Given the description of an element on the screen output the (x, y) to click on. 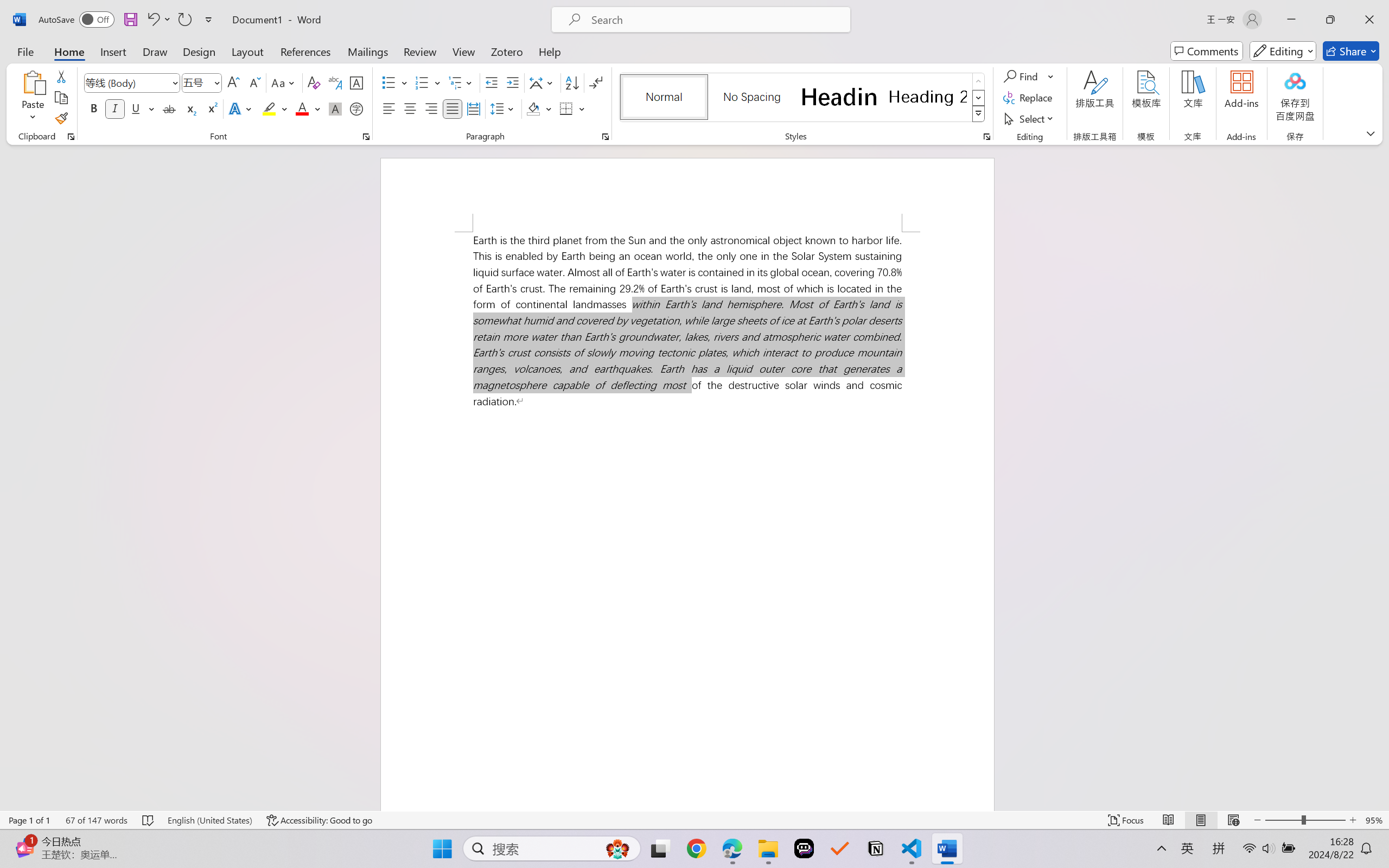
Search (1184, 162)
Audio (184, 62)
An abstract genetic concept (661, 446)
AutoSave (37, 9)
Record your presentations screenshot one (1265, 737)
Shape Format (451, 29)
Page down (1131, 649)
Normal (1201, 837)
Class: MsoCommandBar (694, 836)
Title TextBox (1035, 396)
Clear Recording (224, 62)
Previous page (1151, 162)
Preview (16, 62)
Microsoft search (708, 10)
Transitions (159, 29)
